Given the description of an element on the screen output the (x, y) to click on. 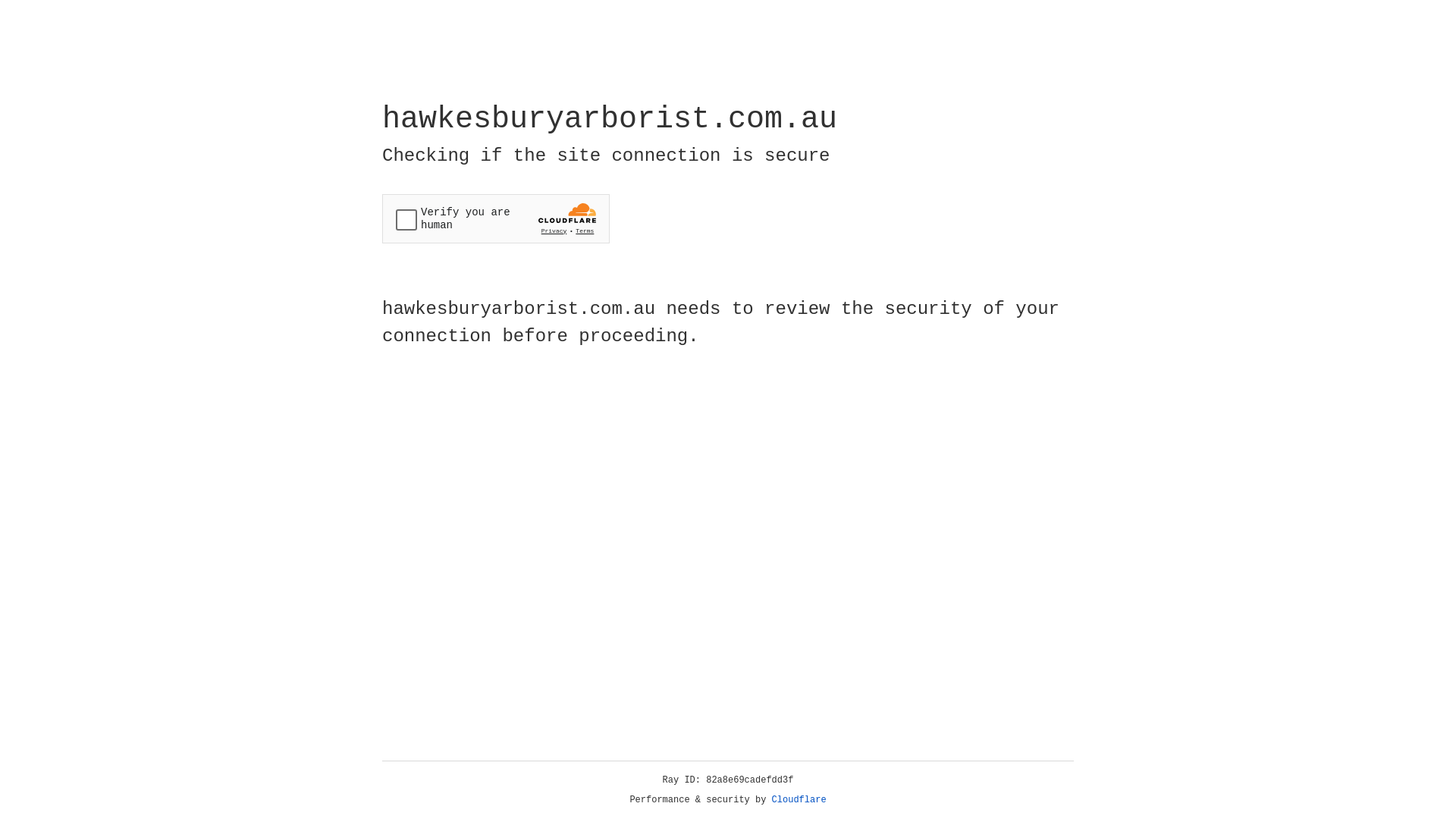
Widget containing a Cloudflare security challenge Element type: hover (495, 218)
Cloudflare Element type: text (798, 799)
